Given the description of an element on the screen output the (x, y) to click on. 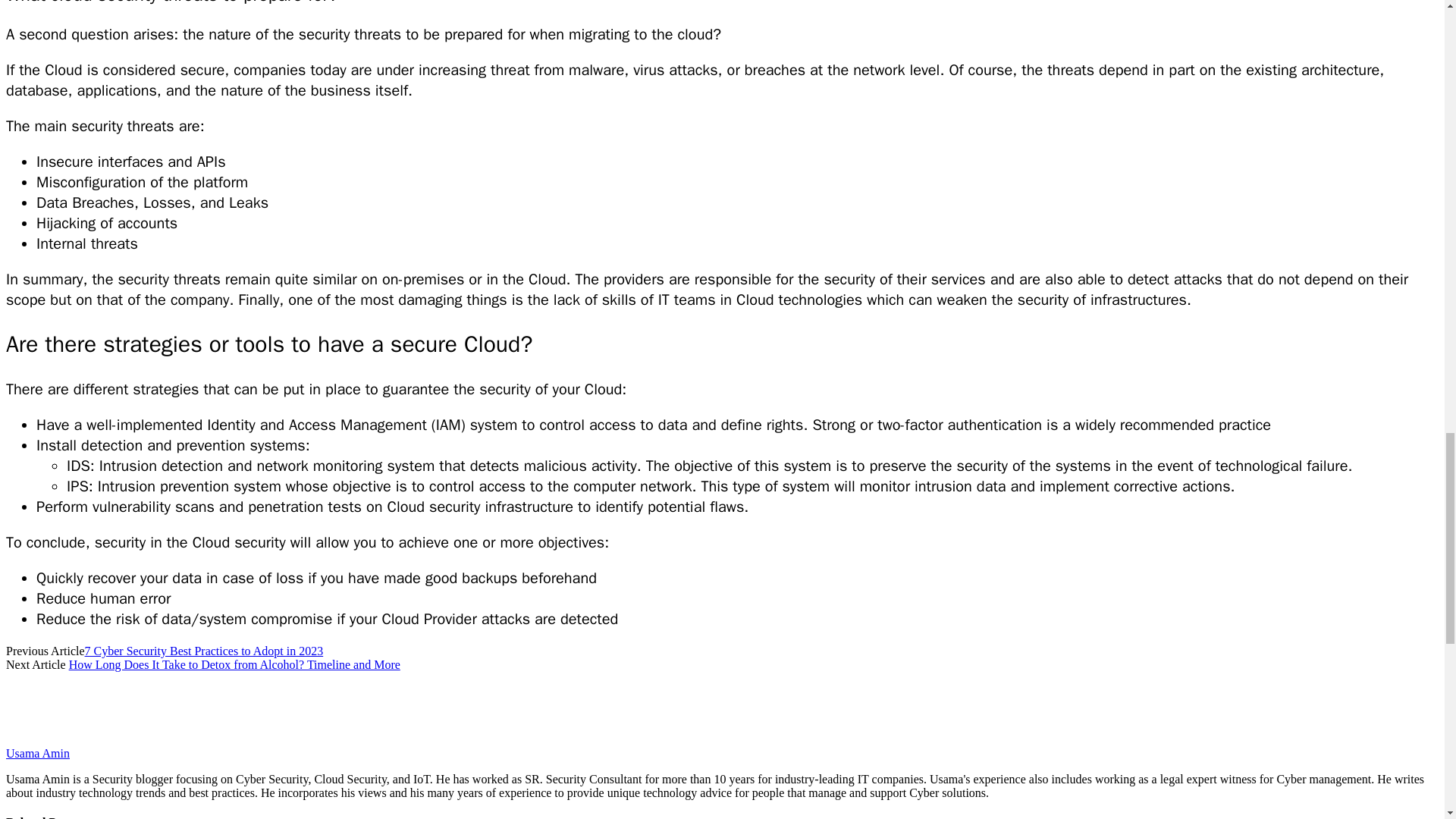
Usama Amin (37, 753)
7 Cyber Security Best Practices to Adopt in 2023 (203, 650)
